Given the description of an element on the screen output the (x, y) to click on. 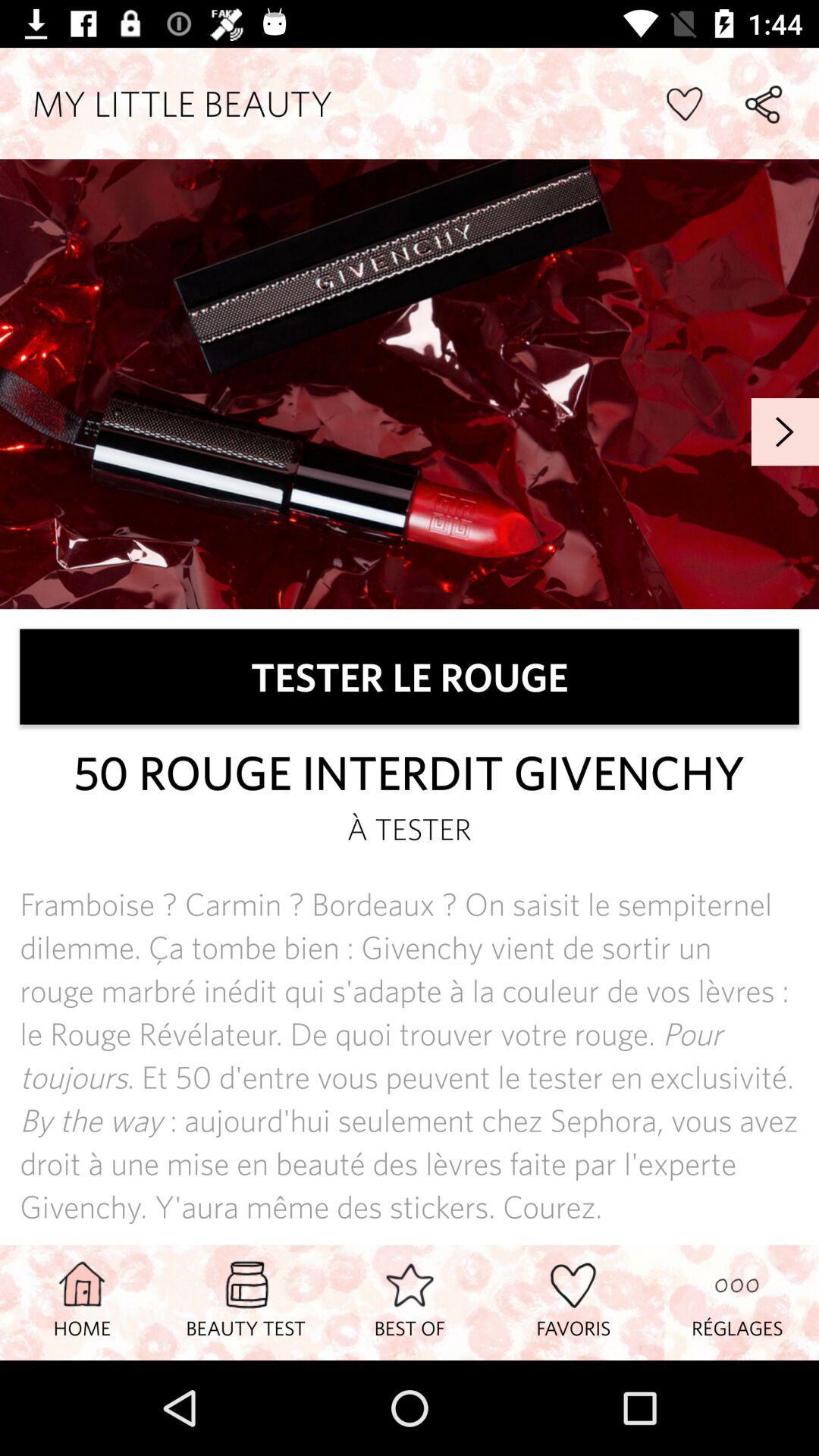
view banner (409, 384)
